Given the description of an element on the screen output the (x, y) to click on. 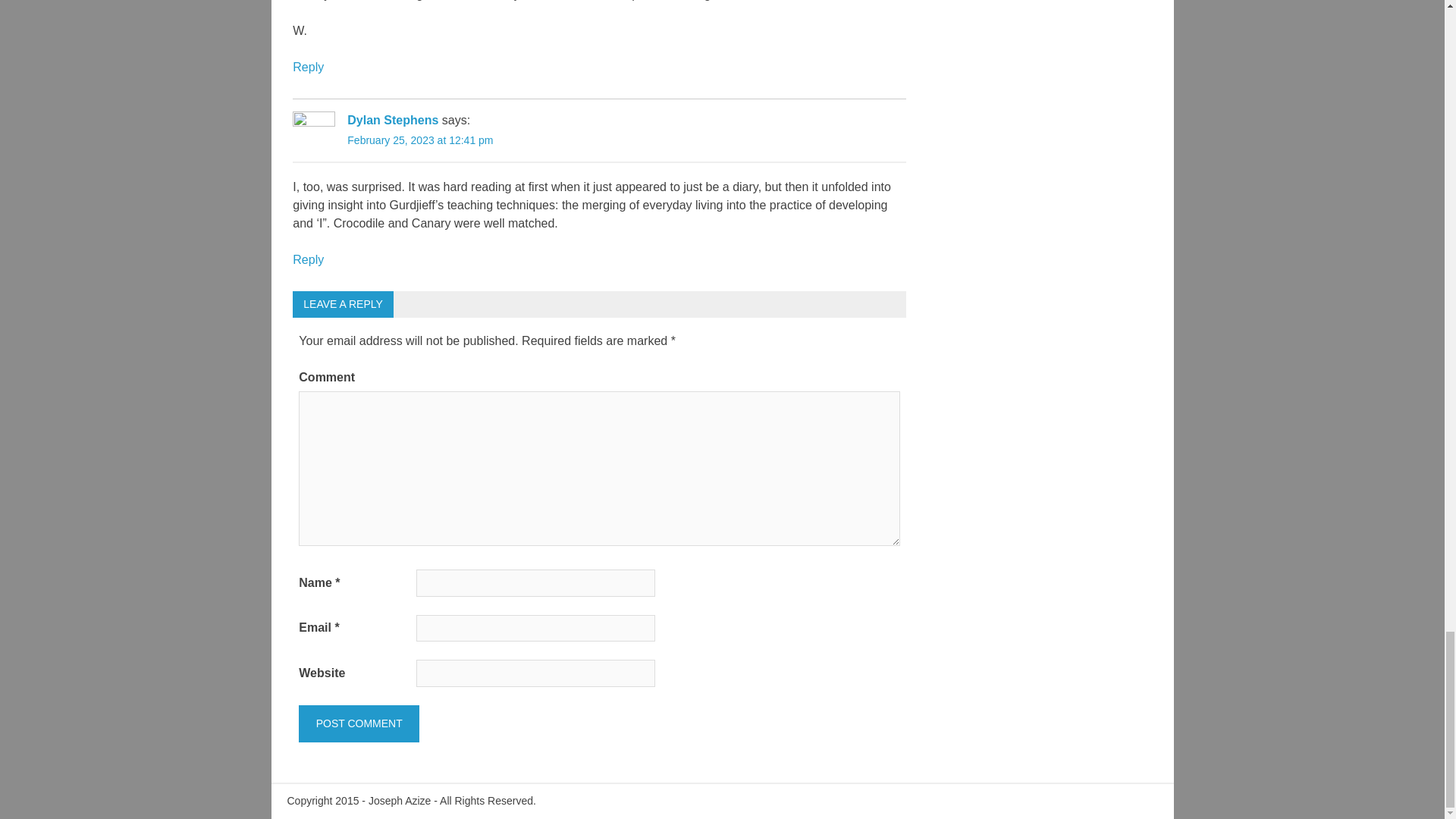
Post Comment (358, 723)
Post Comment (358, 723)
Dylan Stephens (392, 119)
Reply (307, 259)
Reply (307, 66)
February 25, 2023 at 12:41 pm (420, 140)
